Given the description of an element on the screen output the (x, y) to click on. 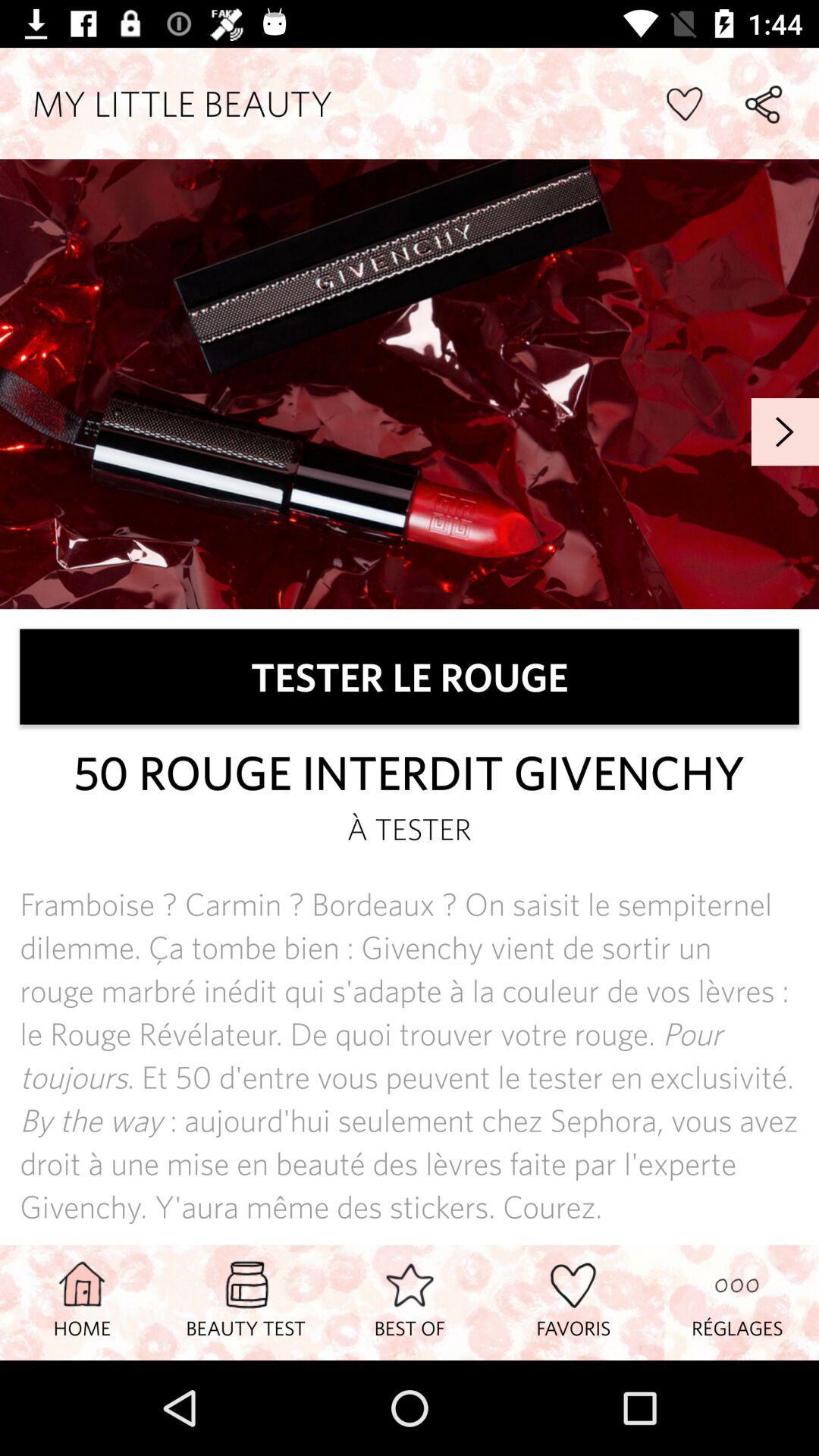
select the item to the right of the beauty test item (409, 1302)
